Given the description of an element on the screen output the (x, y) to click on. 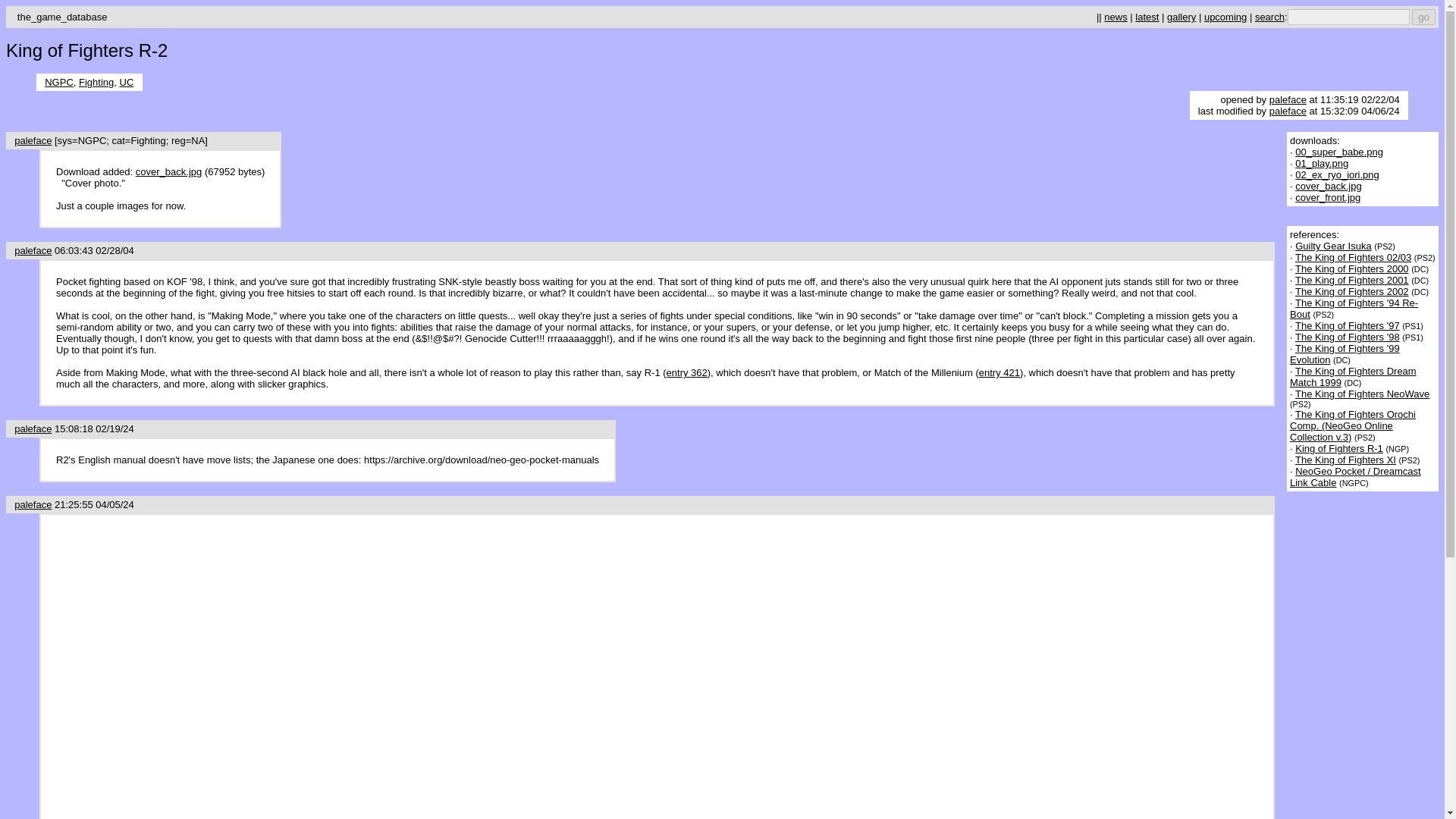
upcoming (1225, 16)
The King of Fighters '98 (1347, 337)
The King of Fighters '94 Re-Bout (1354, 308)
go (1423, 17)
The King of Fighters '97 (1347, 325)
The King of Fighters XI (1345, 460)
NGPC (59, 81)
paleface (32, 428)
entry 421 (999, 372)
Guilty Gear Isuka (1333, 245)
UC (126, 81)
search (1269, 16)
paleface (1287, 99)
paleface (32, 250)
